Given the description of an element on the screen output the (x, y) to click on. 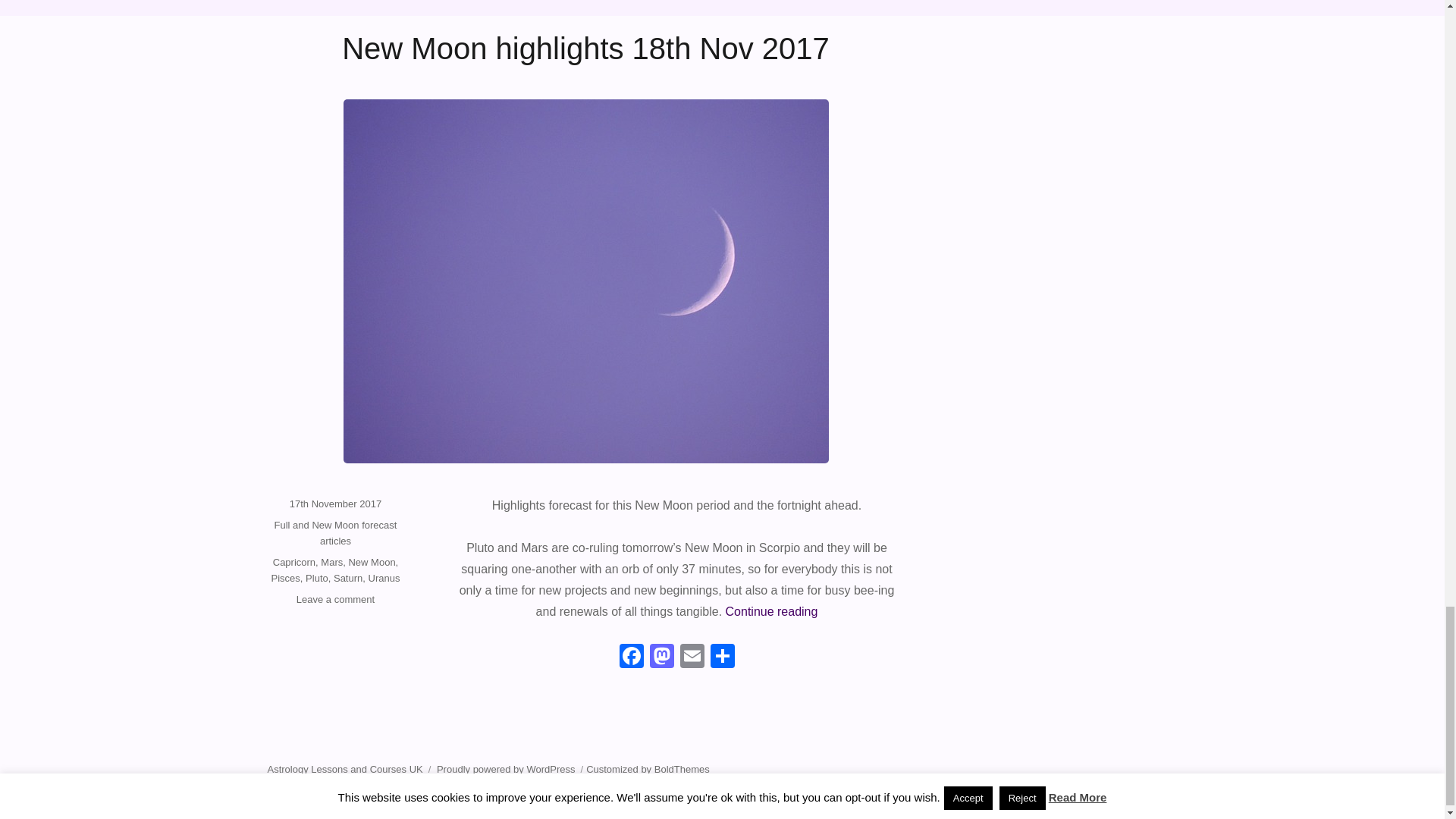
Email (691, 657)
Mastodon (661, 657)
Facebook (630, 657)
